Given the description of an element on the screen output the (x, y) to click on. 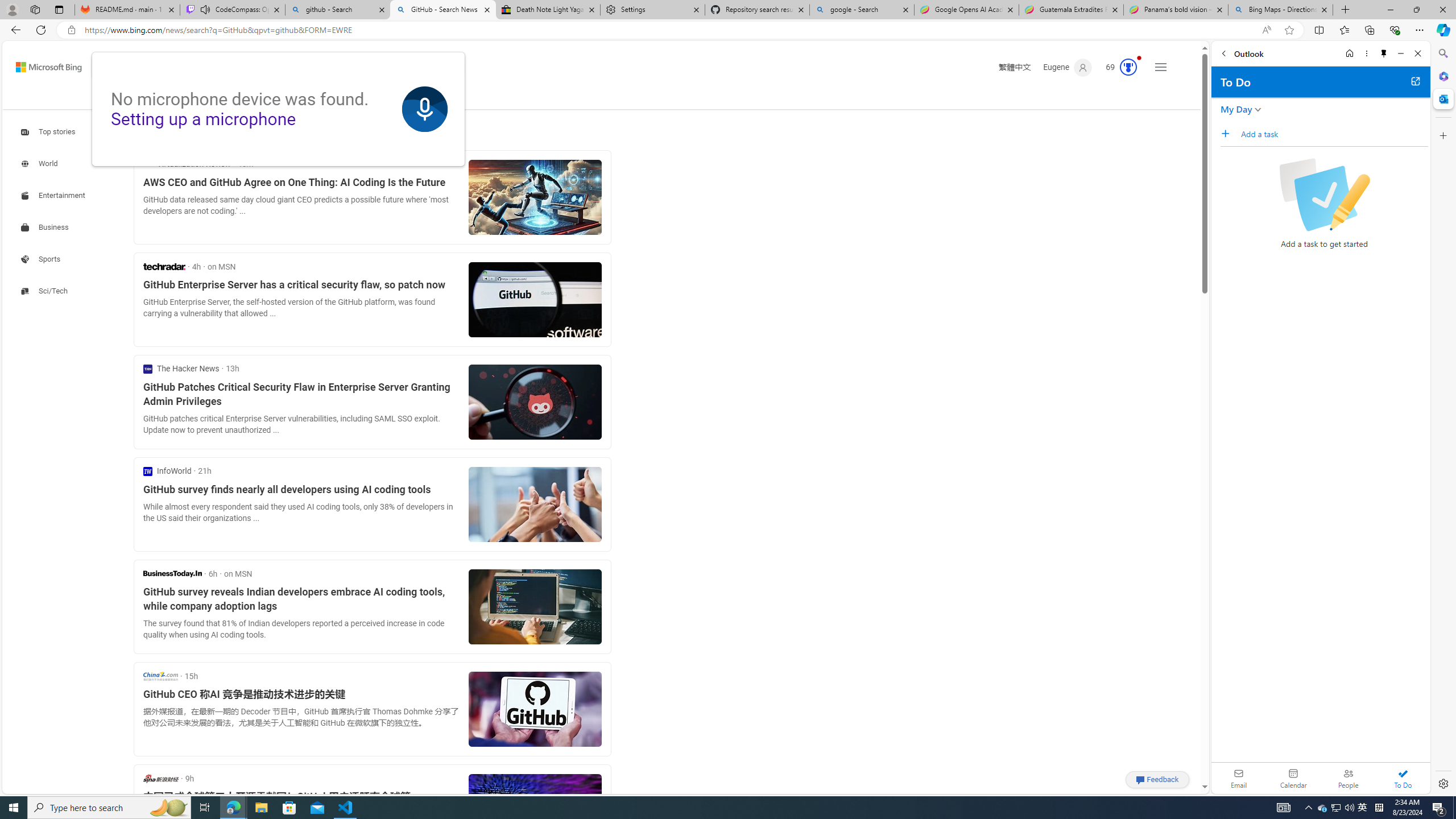
MAPS (311, 96)
VIDEOS (268, 96)
Customize (1442, 135)
MAPS (311, 98)
Search news about Sci/Tech (45, 290)
Eugene (1067, 67)
Email (1238, 777)
AutomationID: rh_meter (1128, 66)
Settings and quick links (1160, 67)
